Given the description of an element on the screen output the (x, y) to click on. 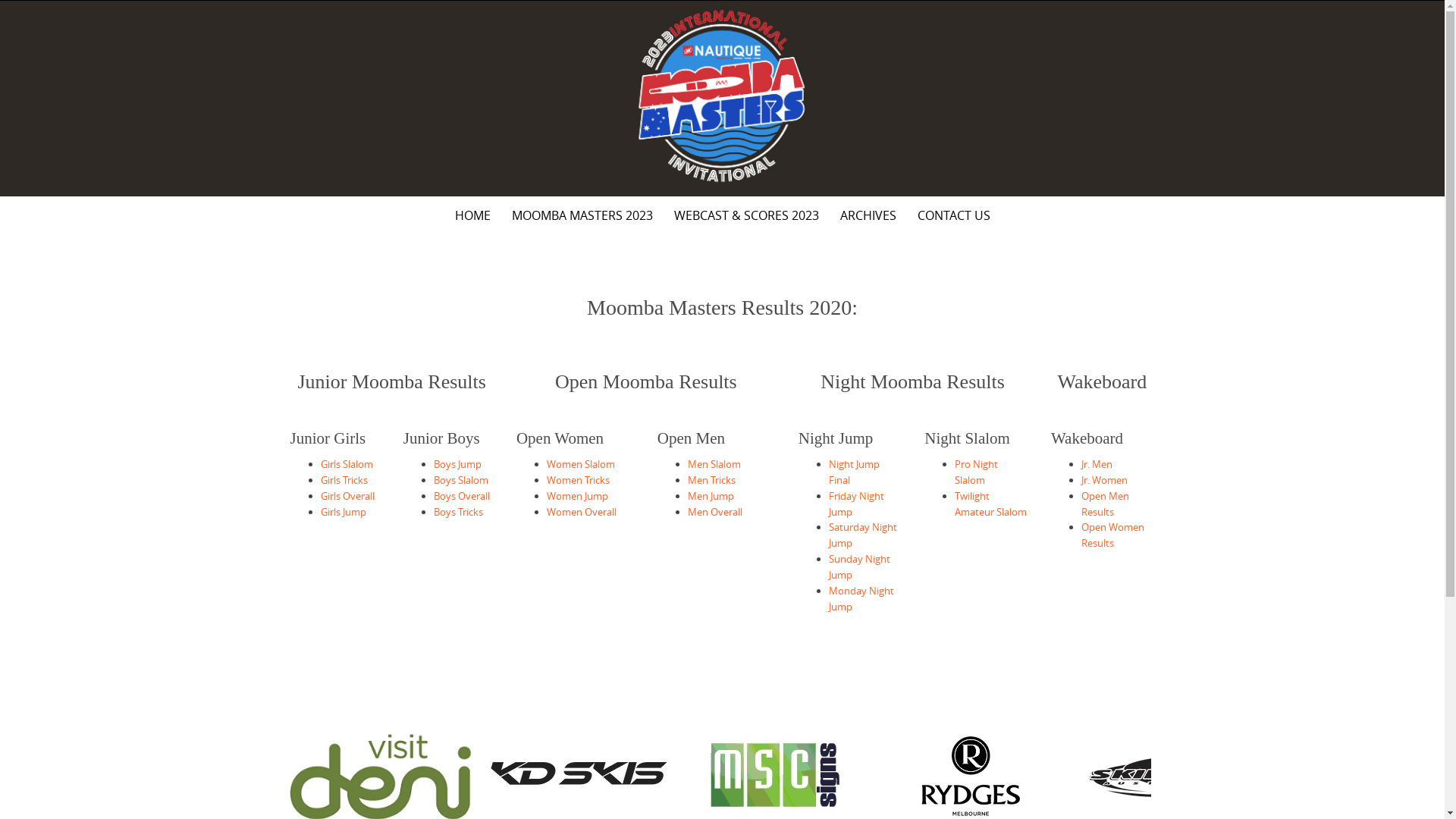
Friday Night Jump Element type: text (856, 503)
Boys Tricks Element type: text (458, 511)
Men Slalom Element type: text (713, 463)
Sunday Night Jump Element type: text (859, 566)
Boys Overall Element type: text (461, 495)
Girls Tricks Element type: text (343, 479)
Monday Night Jump Element type: text (861, 598)
Saturday Night Jump Element type: text (862, 534)
Twilight Amateur Slalom Element type: text (990, 503)
  Element type: hover (721, 95)
Women Overall Element type: text (581, 511)
Jr. Men Element type: text (1096, 463)
Boys Slalom Element type: text (460, 479)
Open Men Results Element type: text (1105, 503)
Women Slalom Element type: text (580, 463)
Pro Night Slalom Element type: text (975, 471)
Girls Jump Element type: text (342, 511)
Men Overall Element type: text (714, 511)
CONTACT US Element type: text (953, 215)
Night Jump Final Element type: text (853, 471)
HOME Element type: text (472, 215)
WEBCAST & SCORES 2023 Element type: text (745, 215)
Girls Slalom Element type: text (346, 463)
Women Jump Element type: text (577, 495)
Girls Overall Element type: text (346, 495)
Skip to content Element type: text (0, 0)
Jr. Women Element type: text (1104, 479)
Men Tricks Element type: text (711, 479)
Skip to content Element type: text (274, 196)
Women Tricks Element type: text (577, 479)
MOOMBA MASTERS 2023 Element type: text (581, 215)
Open Women Results Element type: text (1112, 534)
Men Jump Element type: text (710, 495)
Boys Jump Element type: text (457, 463)
ARCHIVES Element type: text (868, 215)
